Given the description of an element on the screen output the (x, y) to click on. 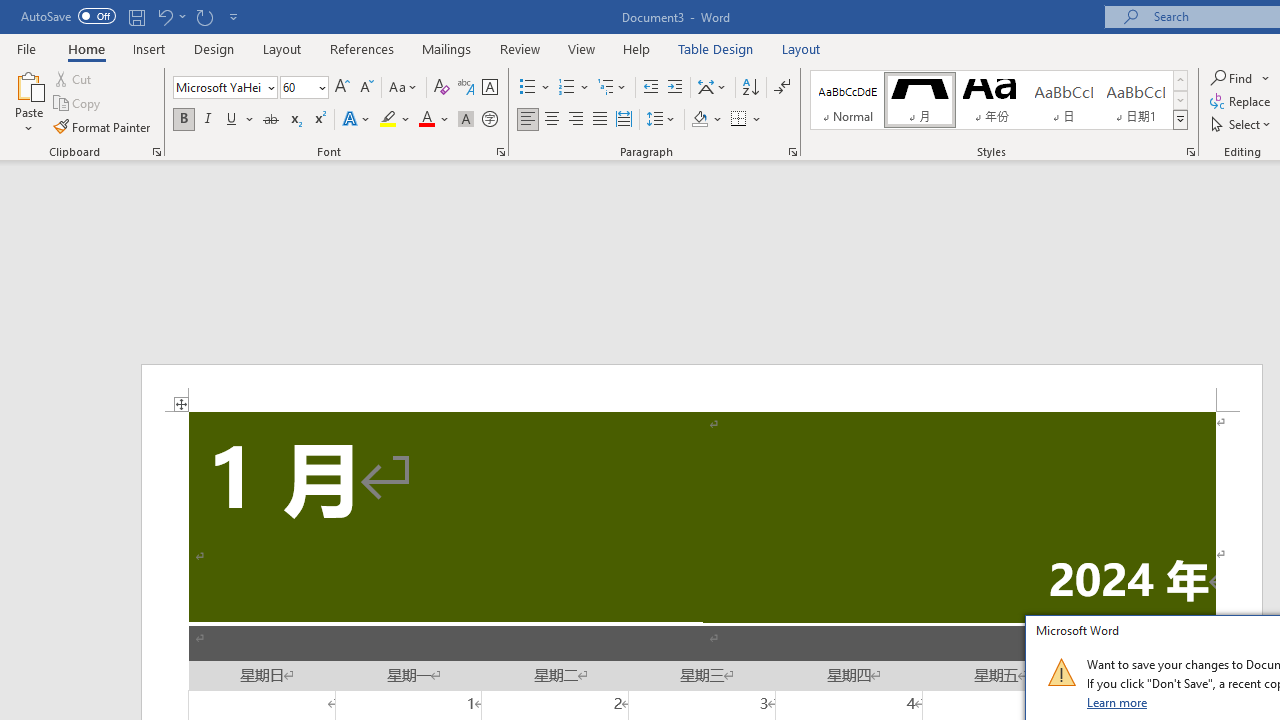
Undo Apply Quick Style (170, 15)
Font Color RGB(255, 0, 0) (426, 119)
